Given the description of an element on the screen output the (x, y) to click on. 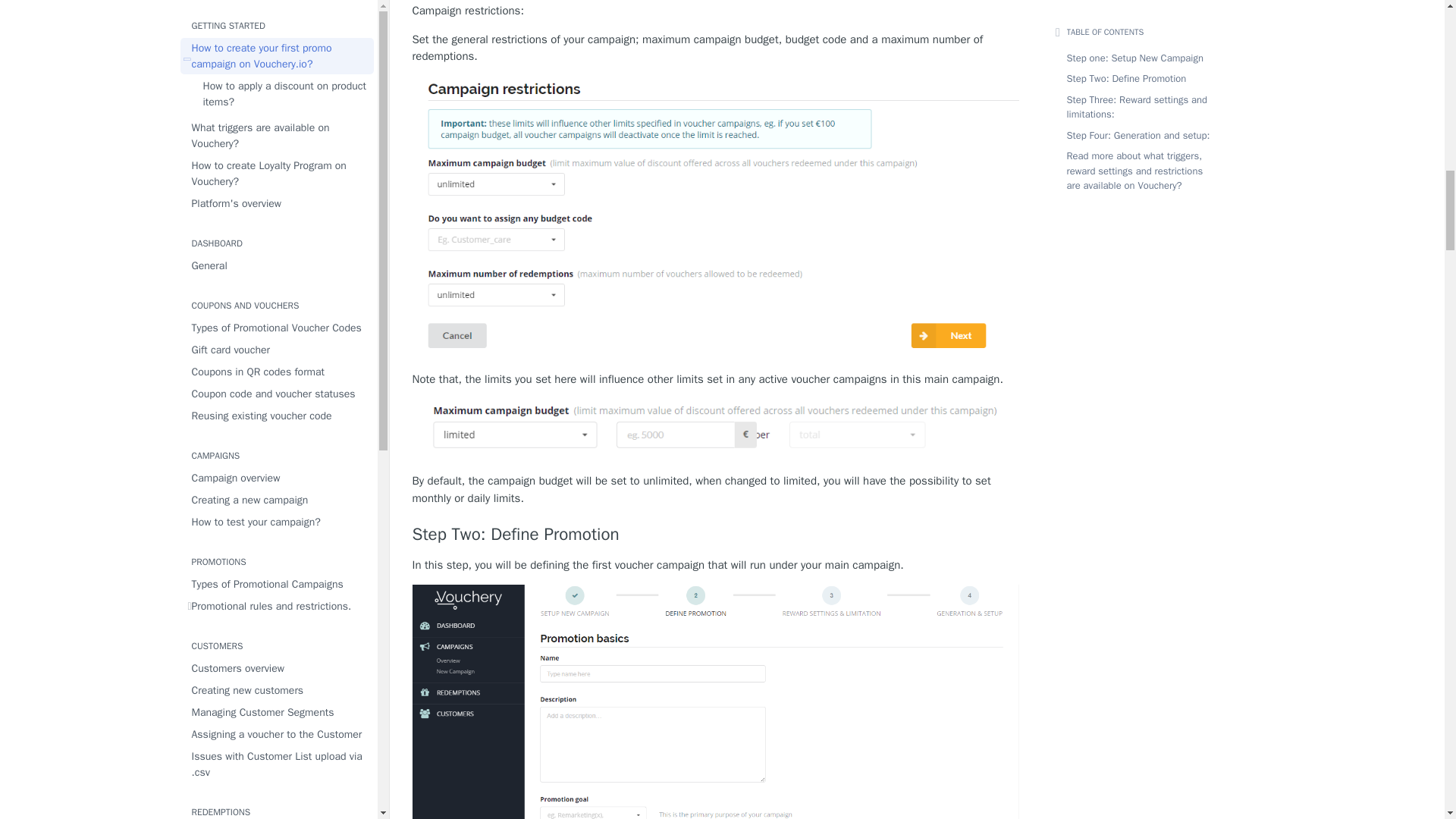
Step Two: Define Promotion (715, 534)
maximum campaign budget.png (715, 430)
